Given the description of an element on the screen output the (x, y) to click on. 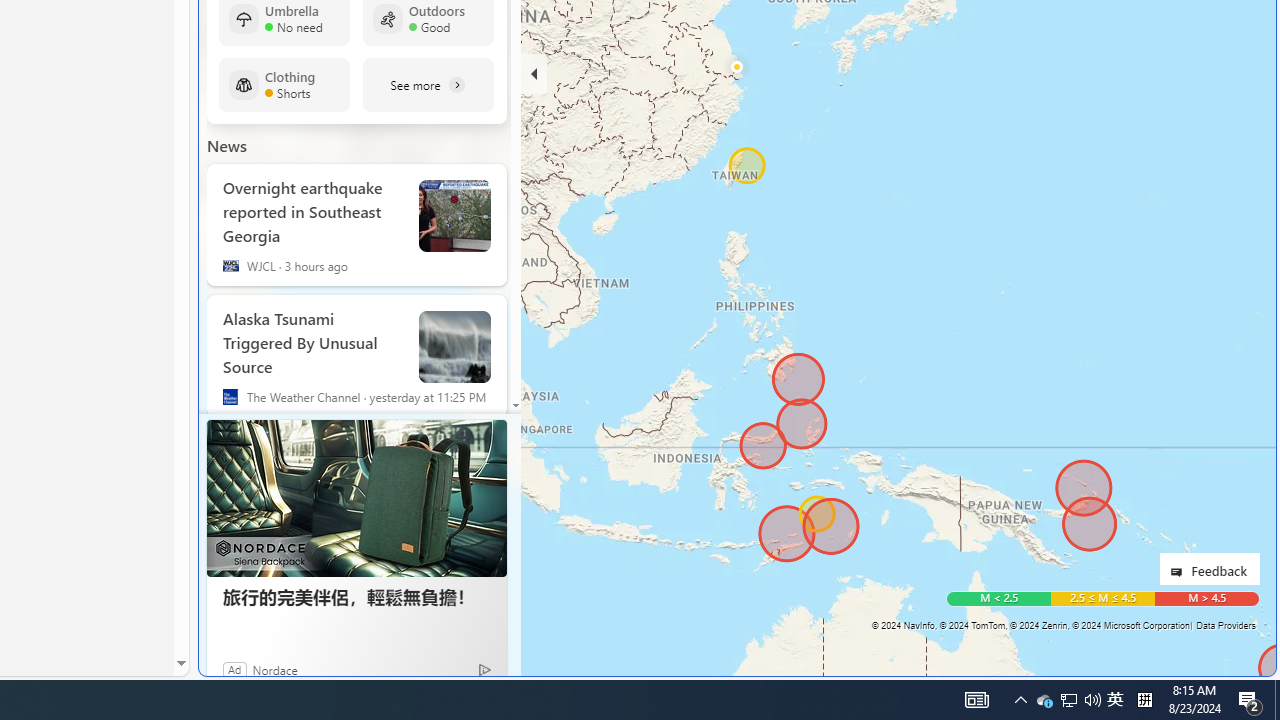
Ad Choice (484, 668)
Alaska Tsunami Triggered By Unusual Source (312, 339)
Hide (533, 73)
Alaska Tsunami Triggered By Unusual Source (454, 347)
The Weather Channel (230, 396)
Nordace (275, 669)
News (227, 146)
Clothing Shorts (283, 85)
Class: feedback_link_icon-DS-EntryPoint1-1 (1179, 571)
Overnight earthquake reported in Southeast Georgia (312, 207)
Data Providers (1225, 625)
Feedback (1209, 568)
Overnight earthquake reported in Southeast Georgia (454, 215)
